Given the description of an element on the screen output the (x, y) to click on. 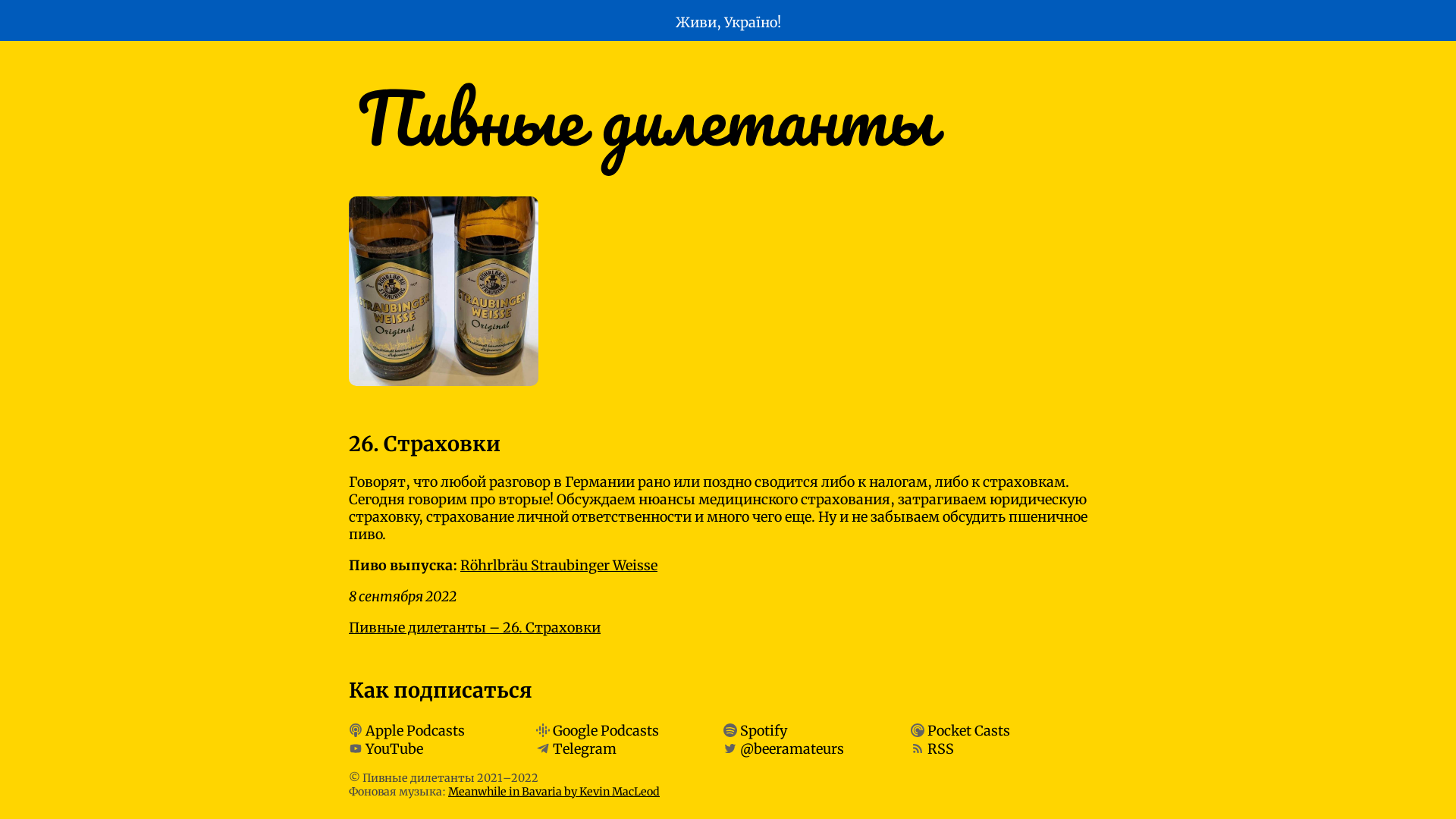
@beeramateurs Element type: text (792, 748)
Google Podcasts Element type: text (605, 729)
Telegram Element type: text (584, 748)
Spotify Element type: text (763, 729)
YouTube Element type: text (394, 748)
Meanwhile in Bavaria by Kevin MacLeod Element type: text (553, 791)
Pocket Casts Element type: text (968, 729)
Apple Podcasts Element type: text (414, 729)
RSS Element type: text (940, 748)
